Given the description of an element on the screen output the (x, y) to click on. 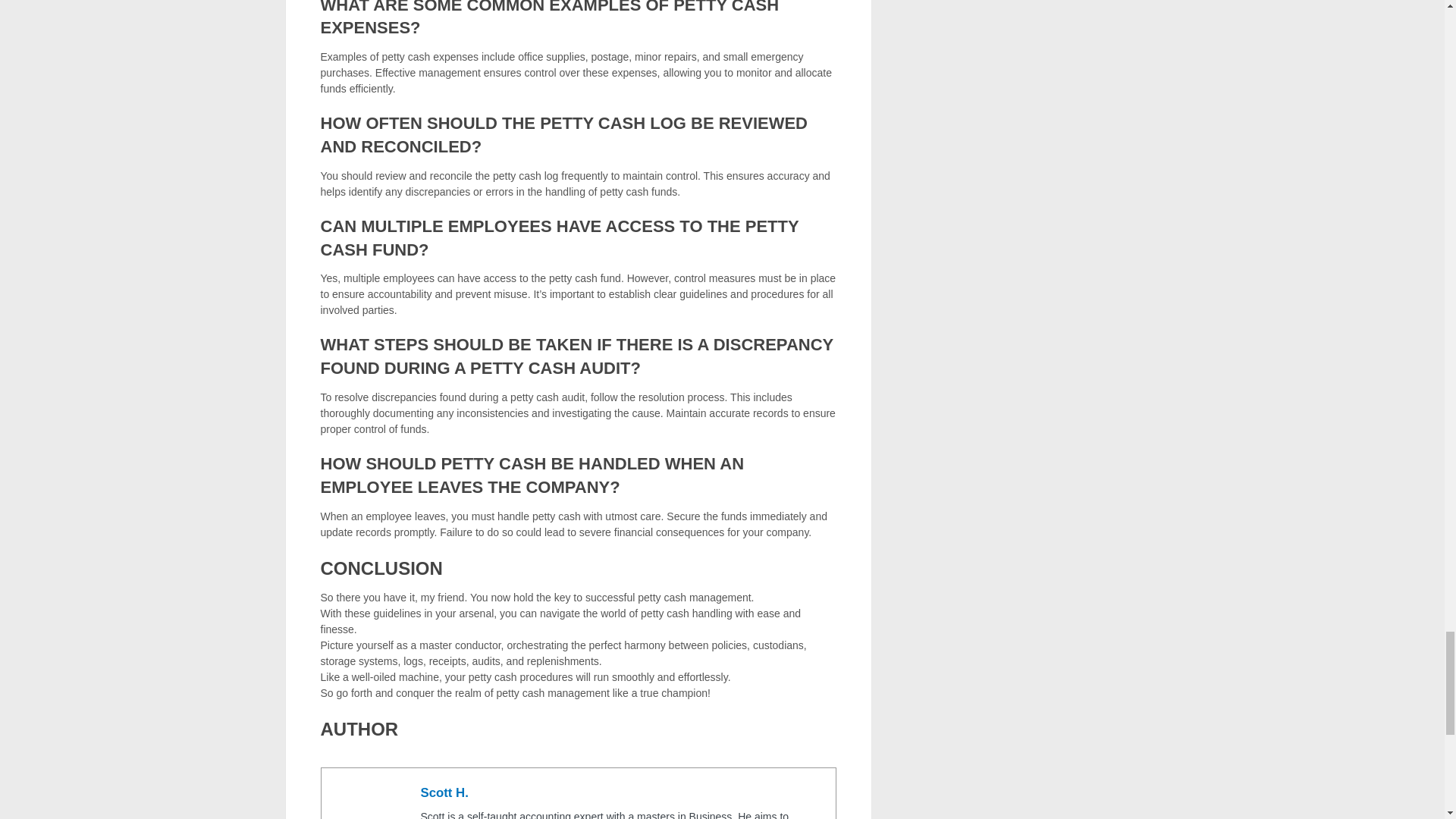
Scott H. (443, 792)
